Given the description of an element on the screen output the (x, y) to click on. 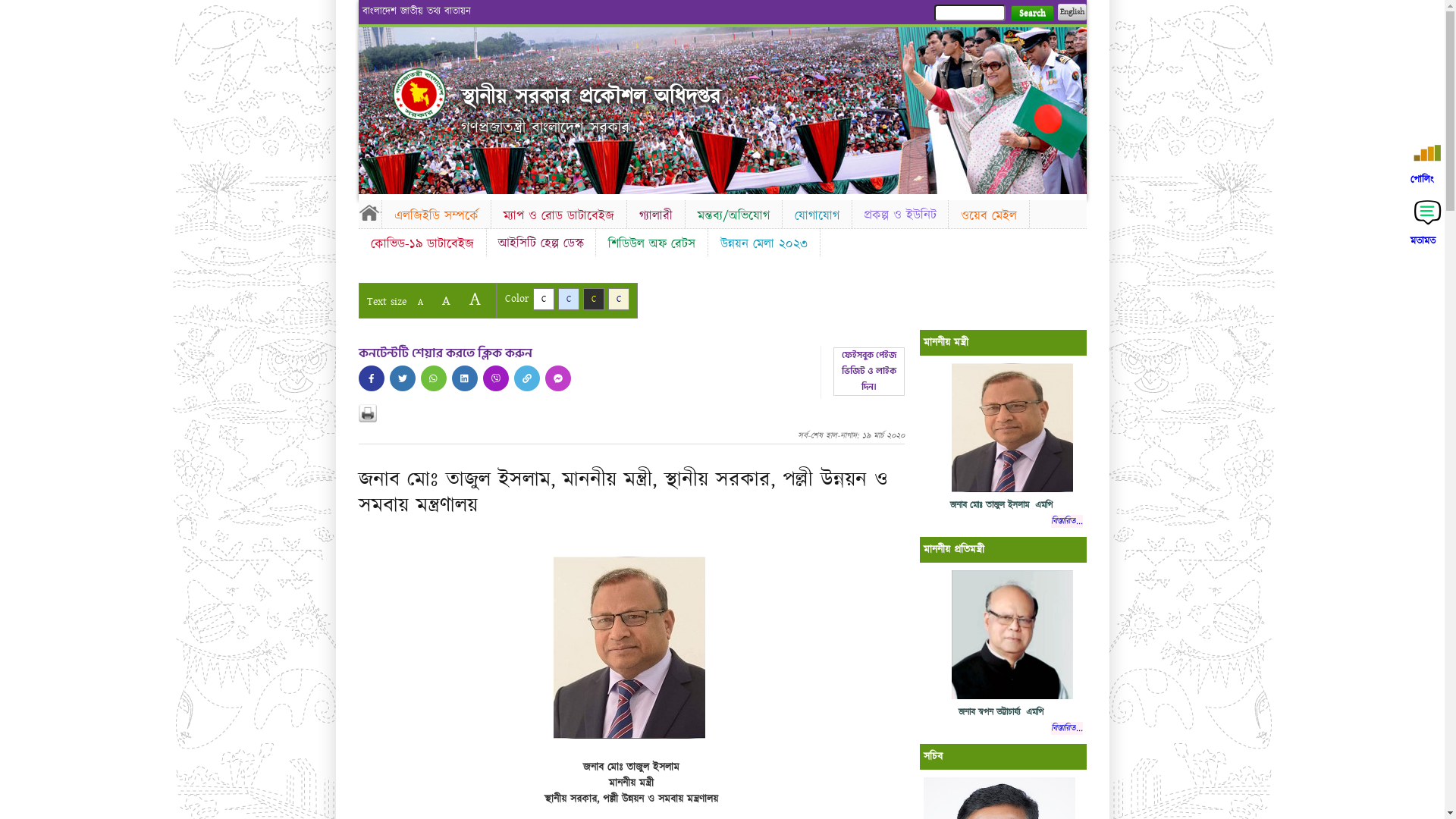
C Element type: text (568, 299)
C Element type: text (618, 299)
A Element type: text (474, 298)
English Element type: text (1071, 11)
C Element type: text (542, 299)
A Element type: text (419, 301)
Home Element type: hover (368, 211)
A Element type: text (445, 300)
Home Element type: hover (418, 93)
Search Element type: text (1031, 13)
C Element type: text (592, 299)
